Given the description of an element on the screen output the (x, y) to click on. 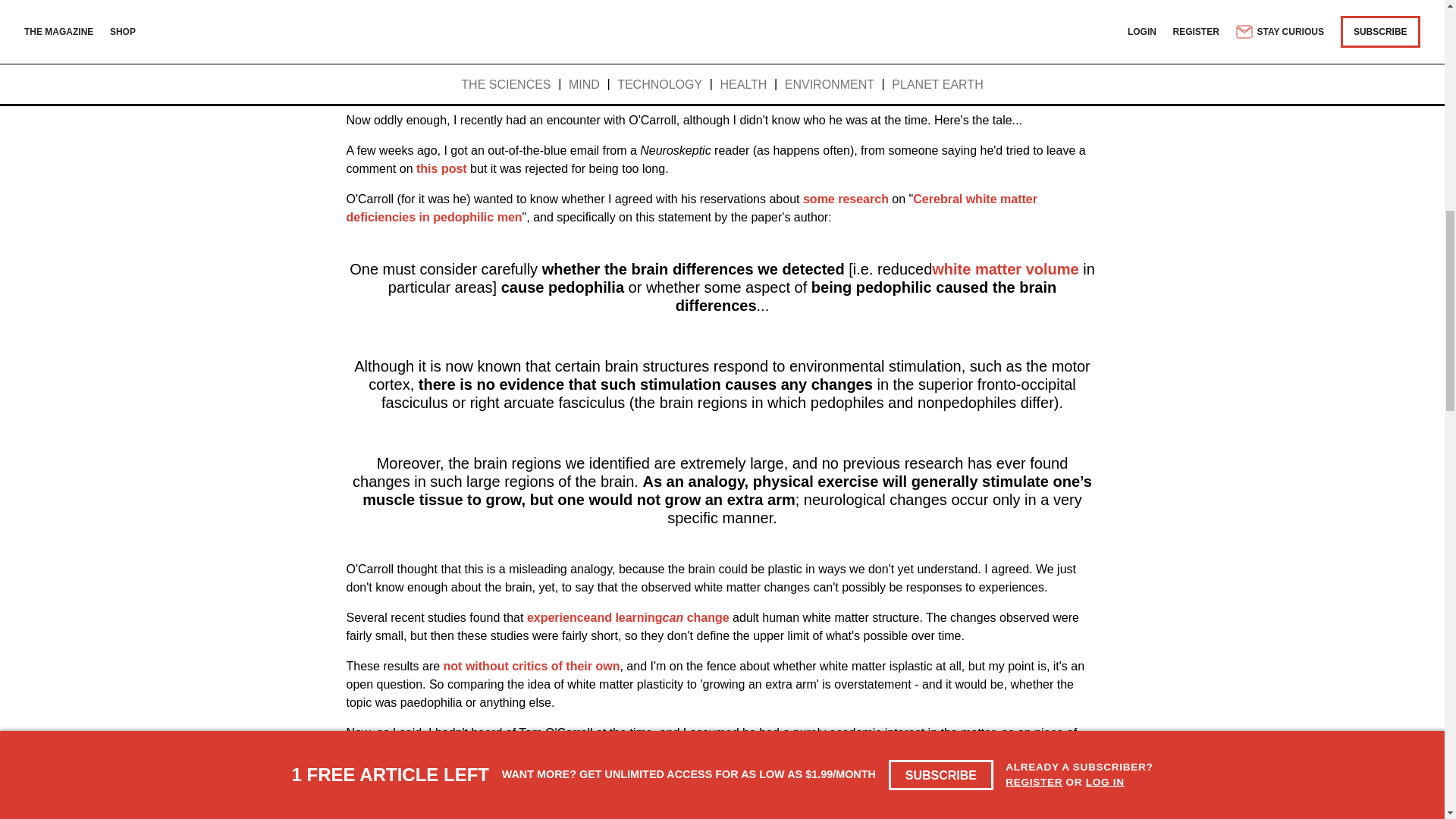
and learning (625, 617)
some research (845, 198)
experience (559, 617)
Cerebral white matter deficiencies in pedophilic men (691, 207)
not without critics of their own (532, 666)
can change (695, 617)
white matter volume (1004, 269)
this post (441, 168)
